Given the description of an element on the screen output the (x, y) to click on. 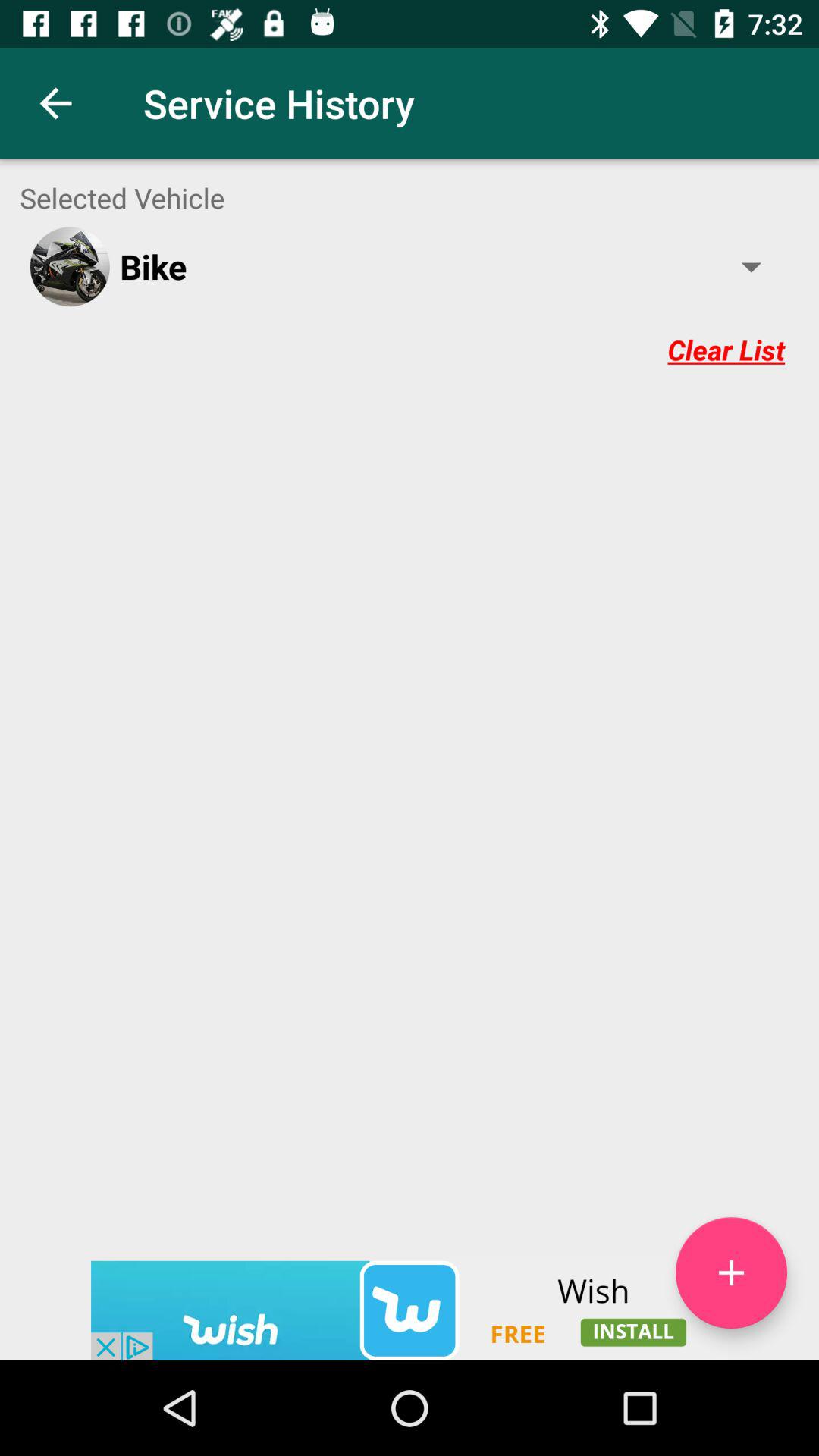
advertisement (409, 1310)
